Given the description of an element on the screen output the (x, y) to click on. 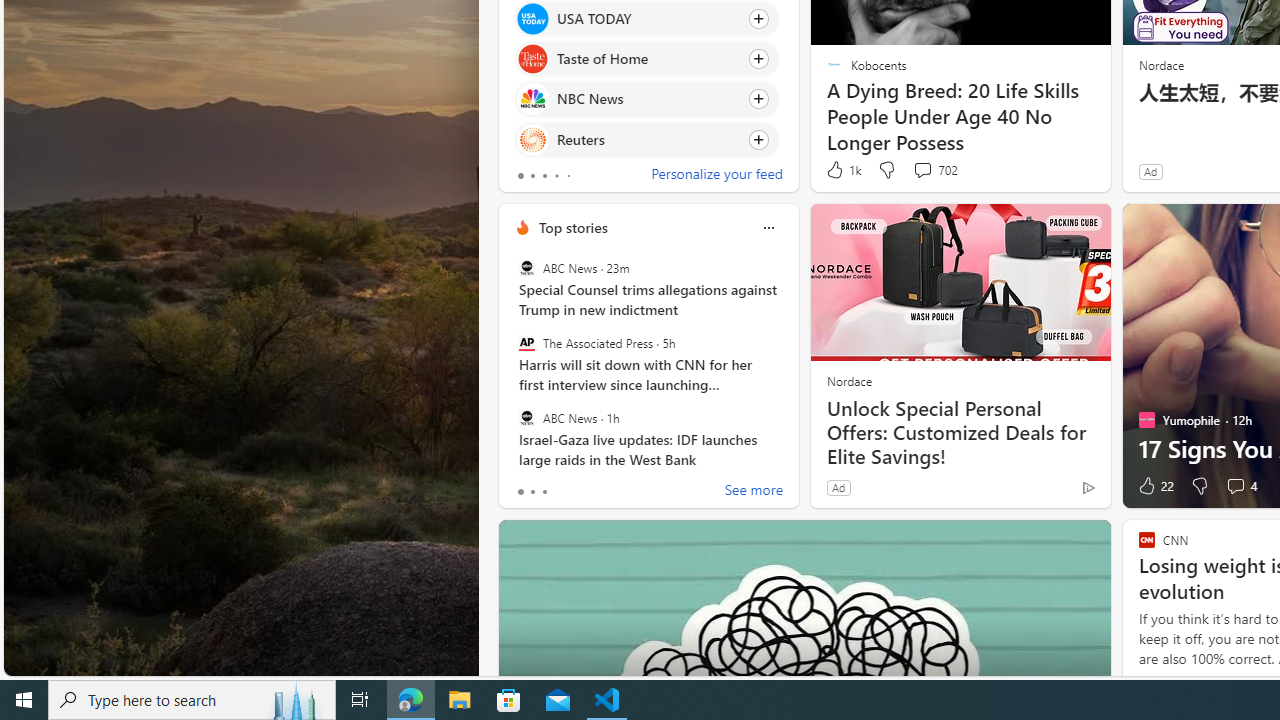
Taste of Home (532, 59)
tab-2 (543, 491)
